Given the description of an element on the screen output the (x, y) to click on. 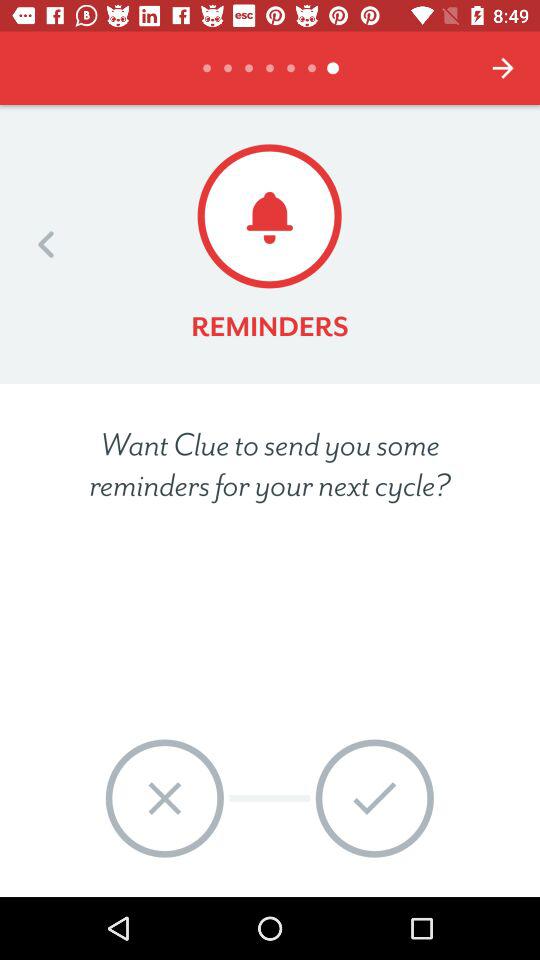
flip to no icon (164, 798)
